Given the description of an element on the screen output the (x, y) to click on. 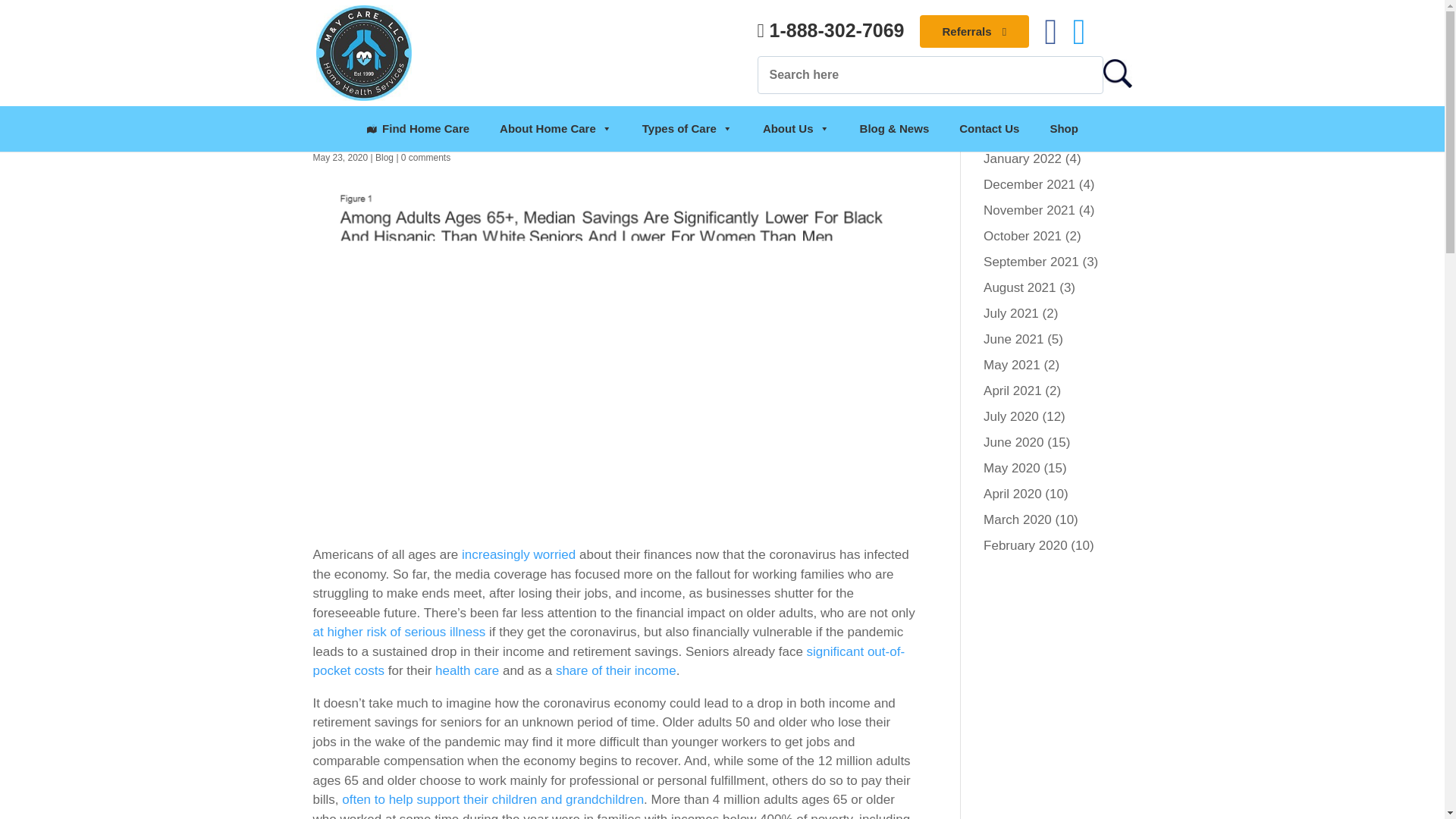
often to help support their children and grandchildren (492, 799)
0 comments (425, 157)
February 2022 (1025, 133)
1-888-302-7069 (830, 30)
significant out-of-pocket costs (608, 661)
Shop (1063, 128)
About Us (796, 128)
Contact Us (988, 128)
share of their income (616, 670)
Referrals (974, 31)
